Given the description of an element on the screen output the (x, y) to click on. 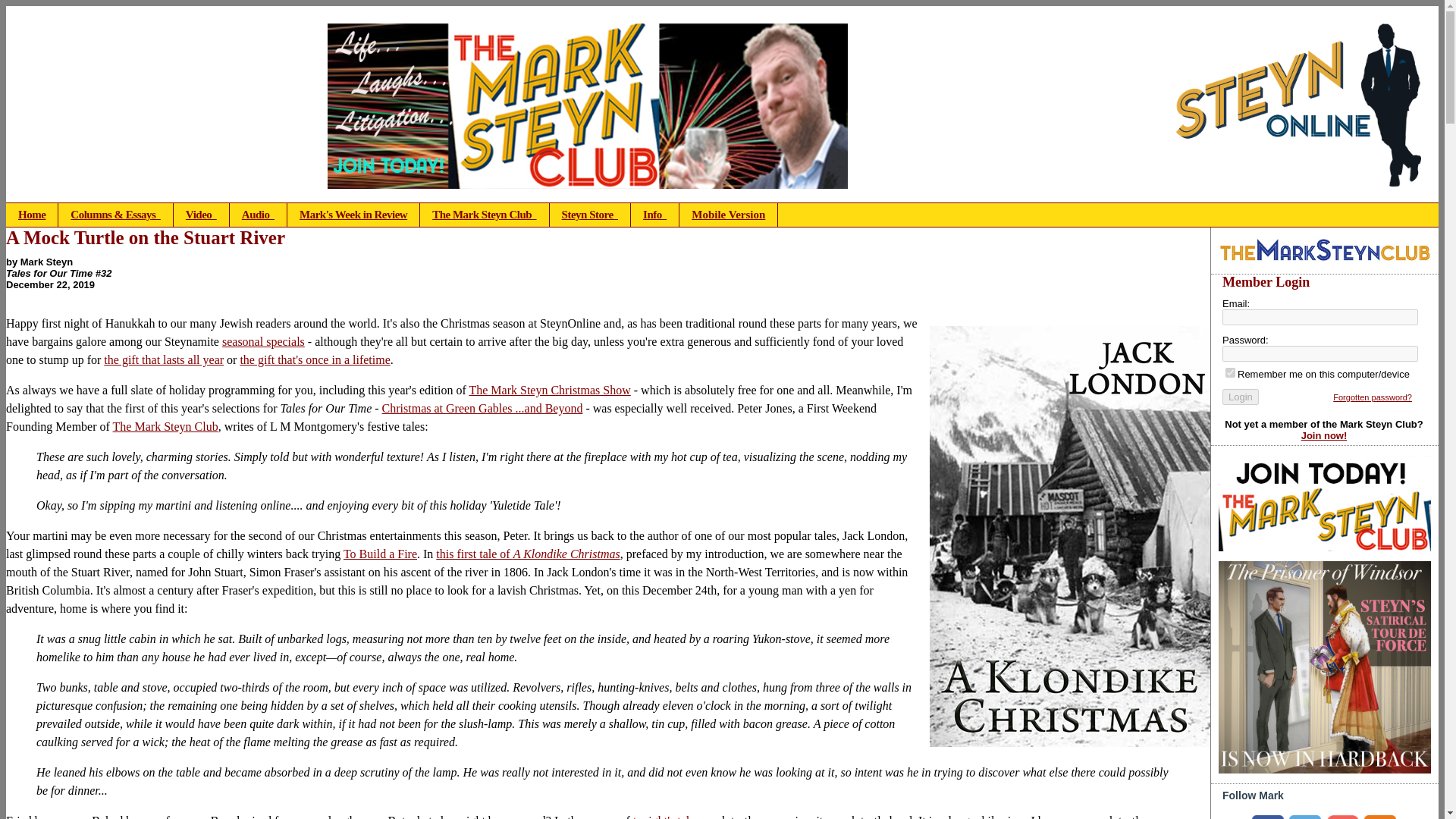
Home (31, 214)
persist (1229, 372)
Join Mailing List (1342, 816)
Login (1241, 396)
Twitter (1304, 816)
RSS Feed (1380, 816)
Mark's Week in Review (353, 214)
Facebook (1268, 816)
